Given the description of an element on the screen output the (x, y) to click on. 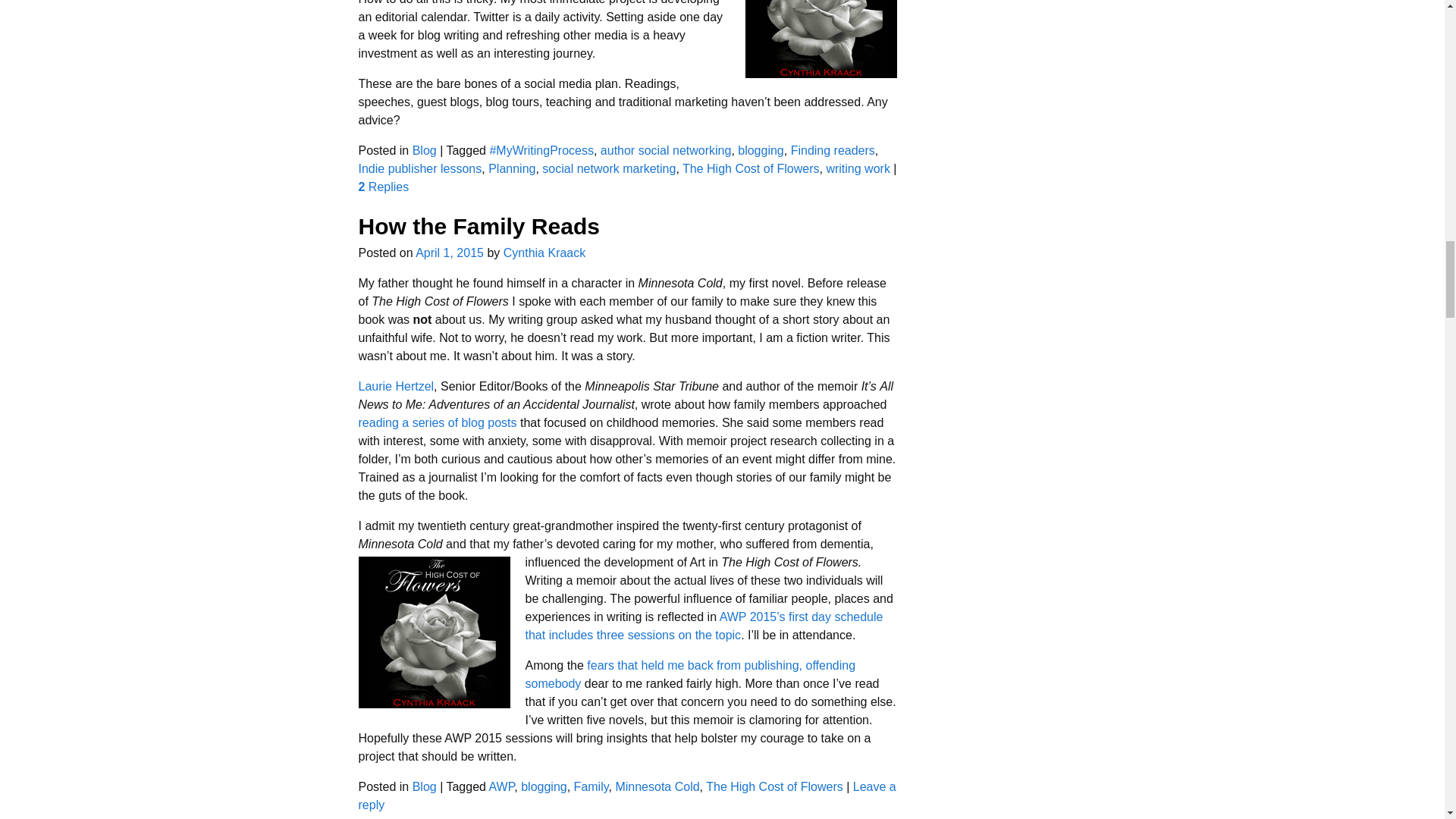
12:14 pm (448, 252)
View all posts by Cynthia Kraack (544, 252)
Permalink to How the Family Reads (478, 226)
